Given the description of an element on the screen output the (x, y) to click on. 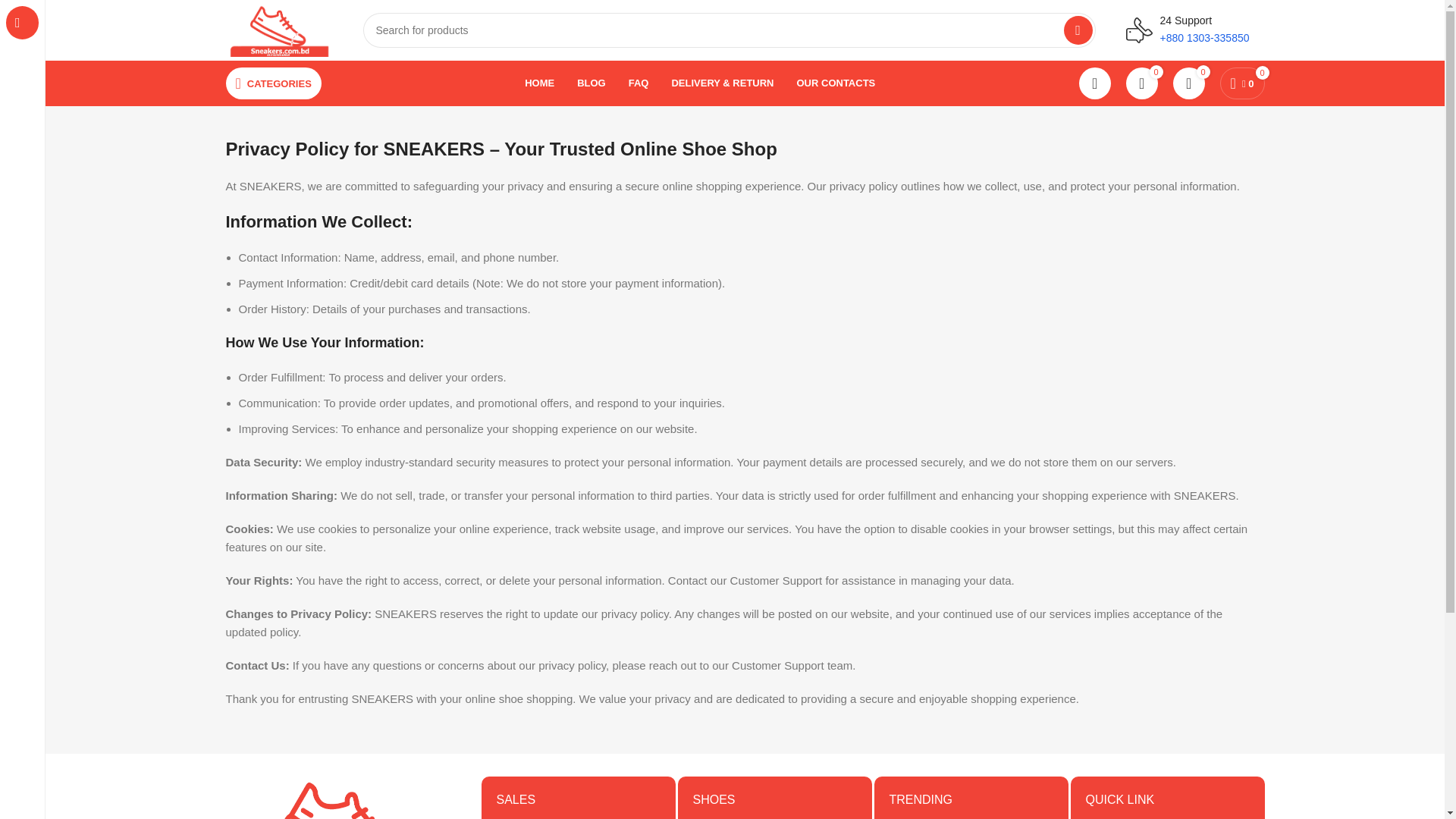
0 (1189, 82)
Search for products (728, 30)
0 (1142, 82)
HOME (539, 82)
FAQ (638, 82)
Search (1078, 30)
BLOG (590, 82)
CATEGORIES (273, 82)
My Wishlist (1189, 82)
Shopping cart (1242, 82)
Compare products (1142, 82)
My account (1094, 82)
OUR CONTACTS (835, 82)
